Given the description of an element on the screen output the (x, y) to click on. 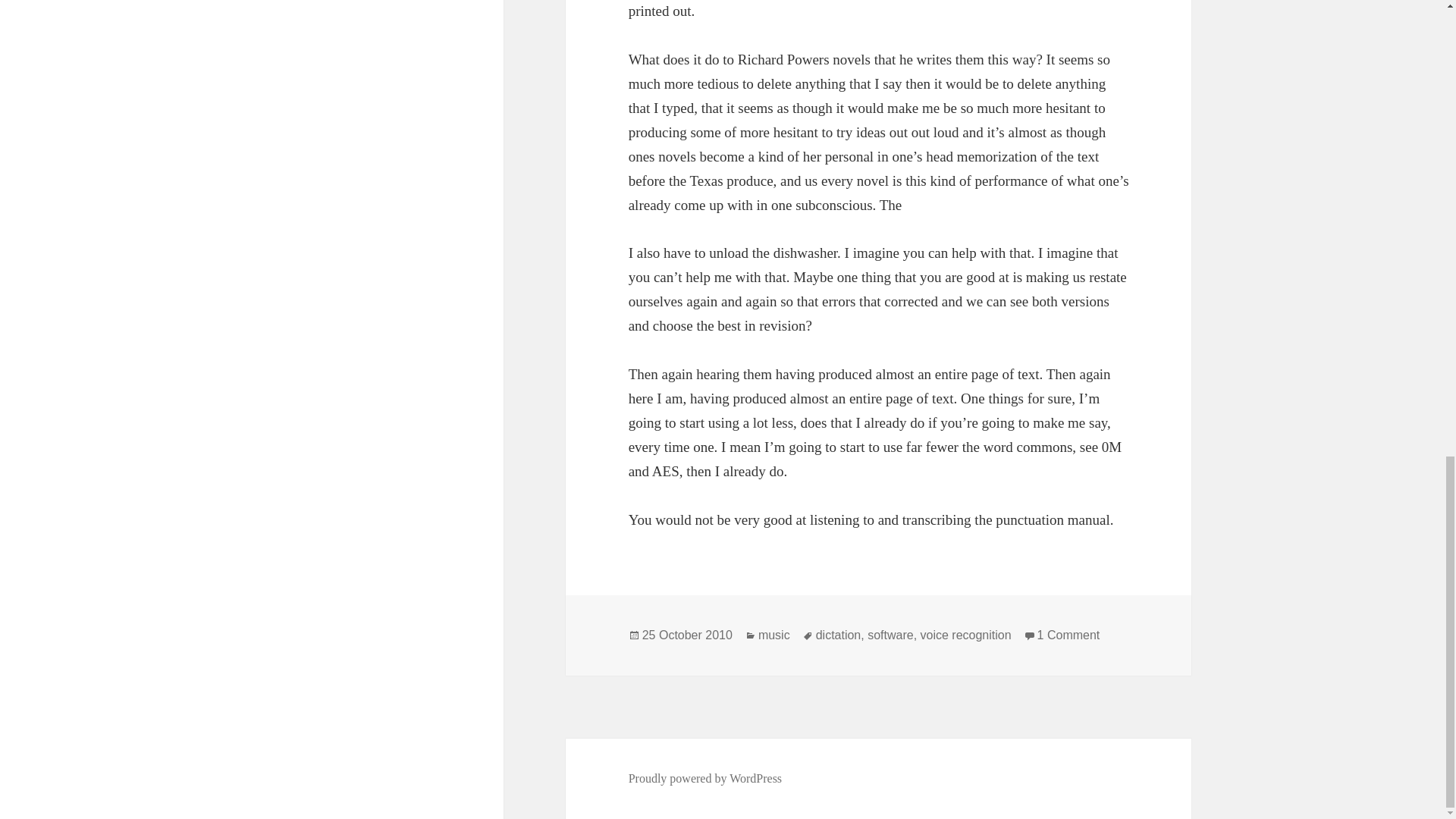
music (774, 635)
dictation (838, 635)
voice recognition (965, 635)
software (889, 635)
25 October 2010 (1068, 635)
Proudly powered by WordPress (687, 635)
